Given the description of an element on the screen output the (x, y) to click on. 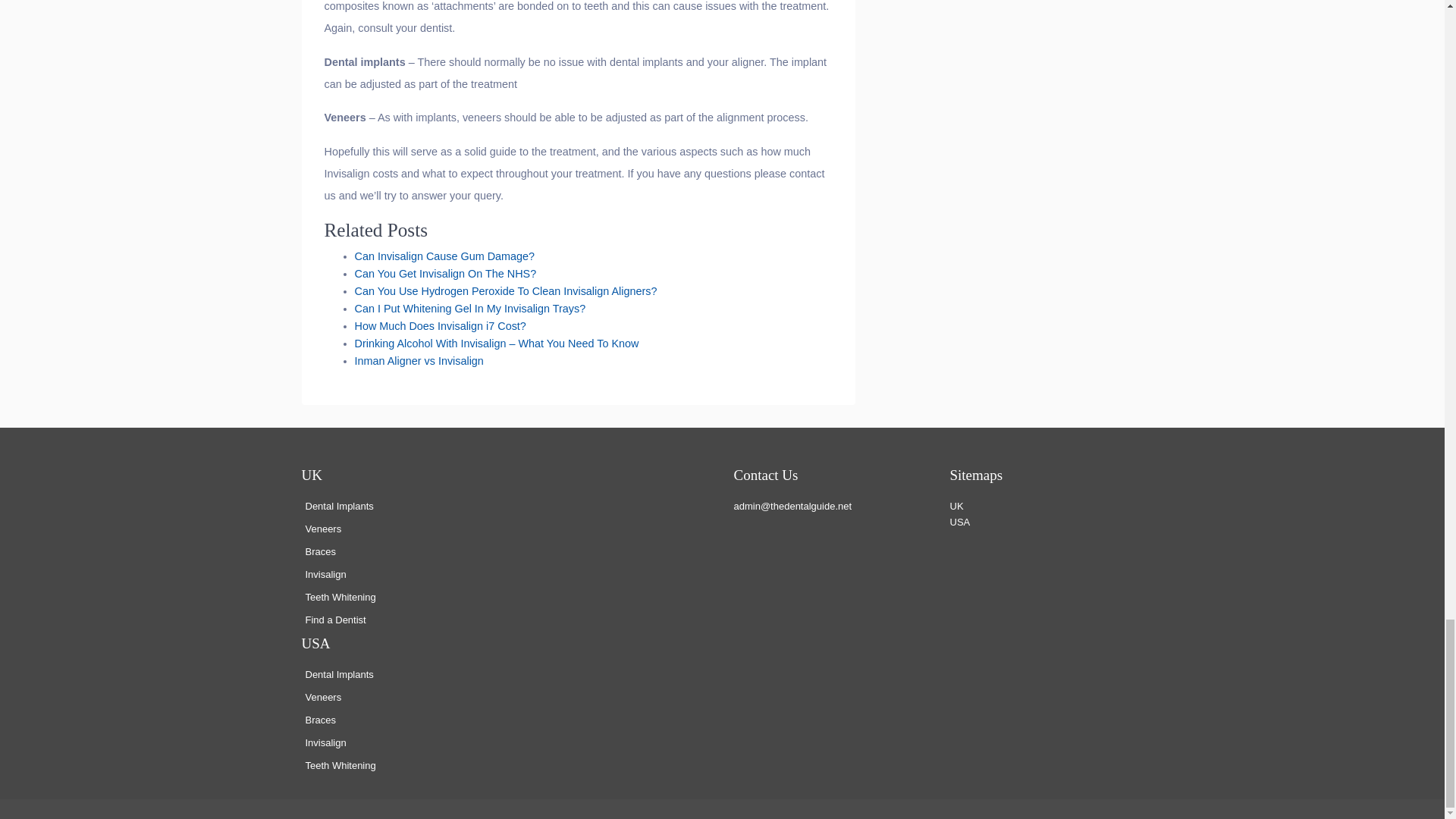
Teeth Whitening (339, 596)
Invisalign (325, 573)
Can You Use Hydrogen Peroxide To Clean Invisalign Aligners? (506, 291)
Veneers (322, 528)
Dental Implants (338, 505)
Braces (319, 719)
Can I Put Whitening Gel In My Invisalign Trays? (470, 308)
Dental Implants (338, 674)
Braces (319, 551)
Inman Aligner vs Invisalign (419, 360)
